Given the description of an element on the screen output the (x, y) to click on. 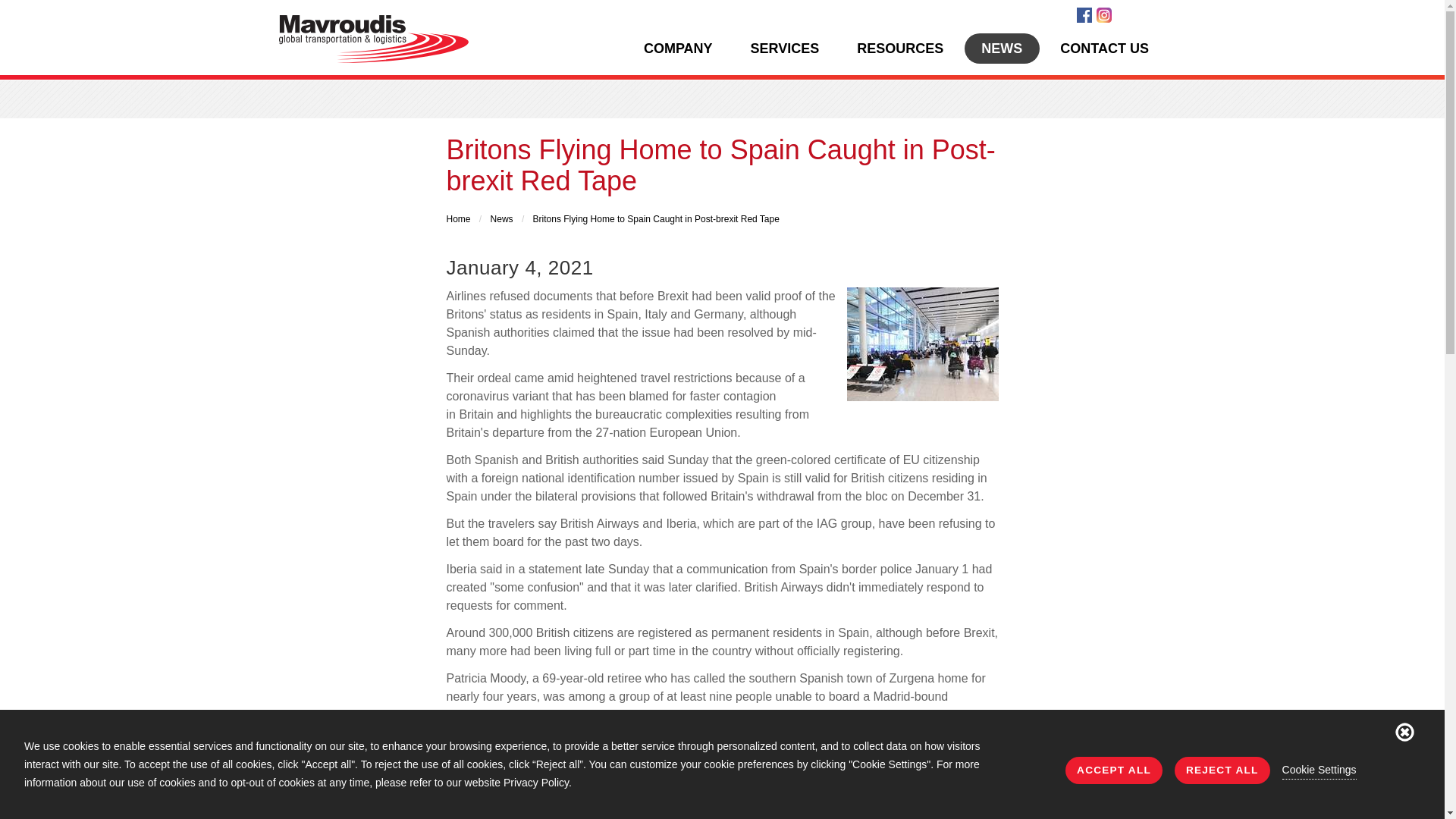
SERVICES (784, 48)
Dismiss Banner (1403, 731)
COMPANY (677, 48)
